Given the description of an element on the screen output the (x, y) to click on. 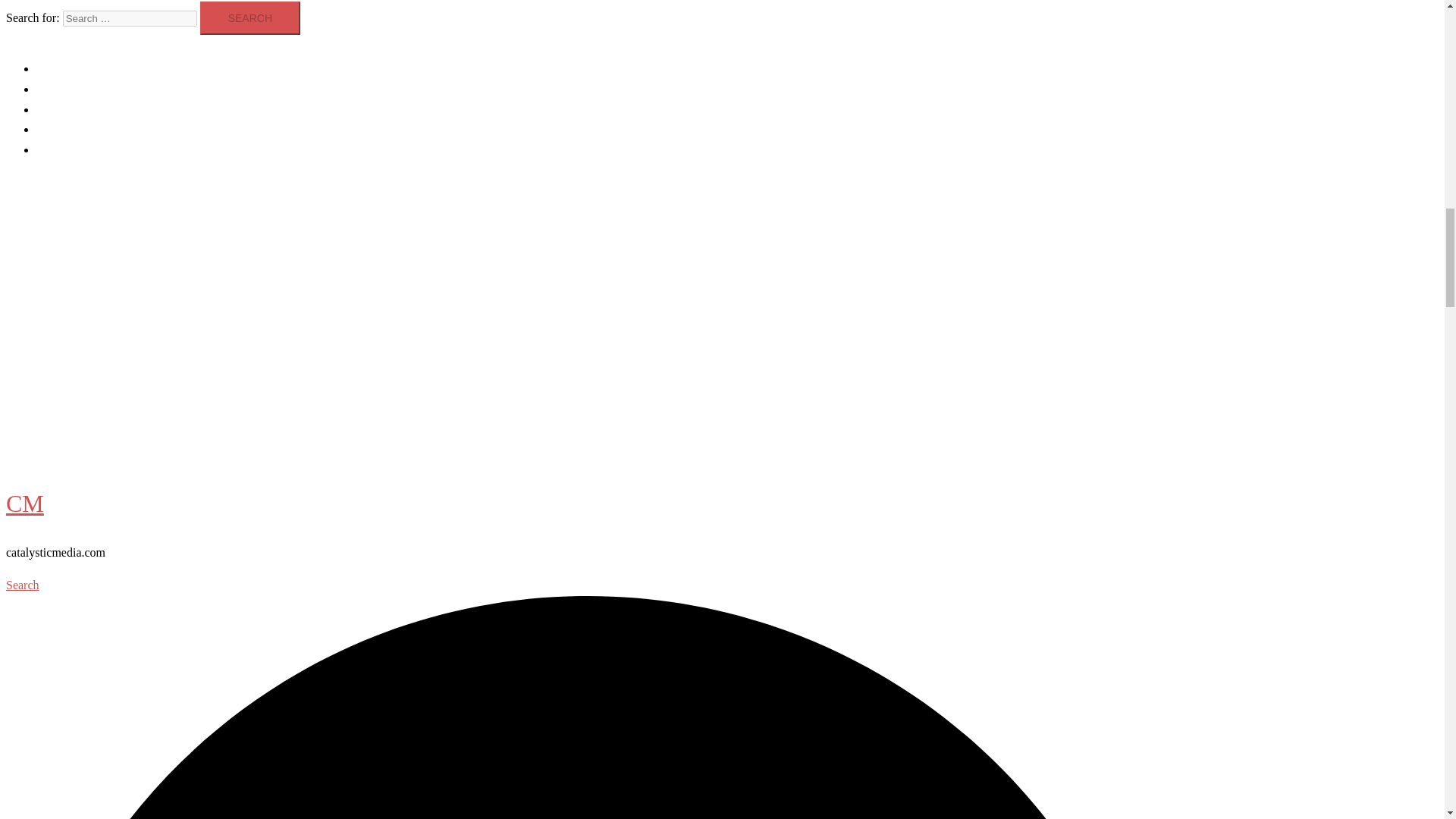
Search (249, 18)
Search (249, 18)
Search (249, 18)
Business Plan (74, 429)
Business Marketing (84, 68)
Business News (73, 88)
CM (24, 222)
Close menu (40, 303)
Finance (58, 407)
Business Strategy (79, 109)
Business Strategy (84, 384)
Business News (77, 361)
Business Marketing (90, 337)
CM (24, 502)
Business Plan (69, 149)
